Given the description of an element on the screen output the (x, y) to click on. 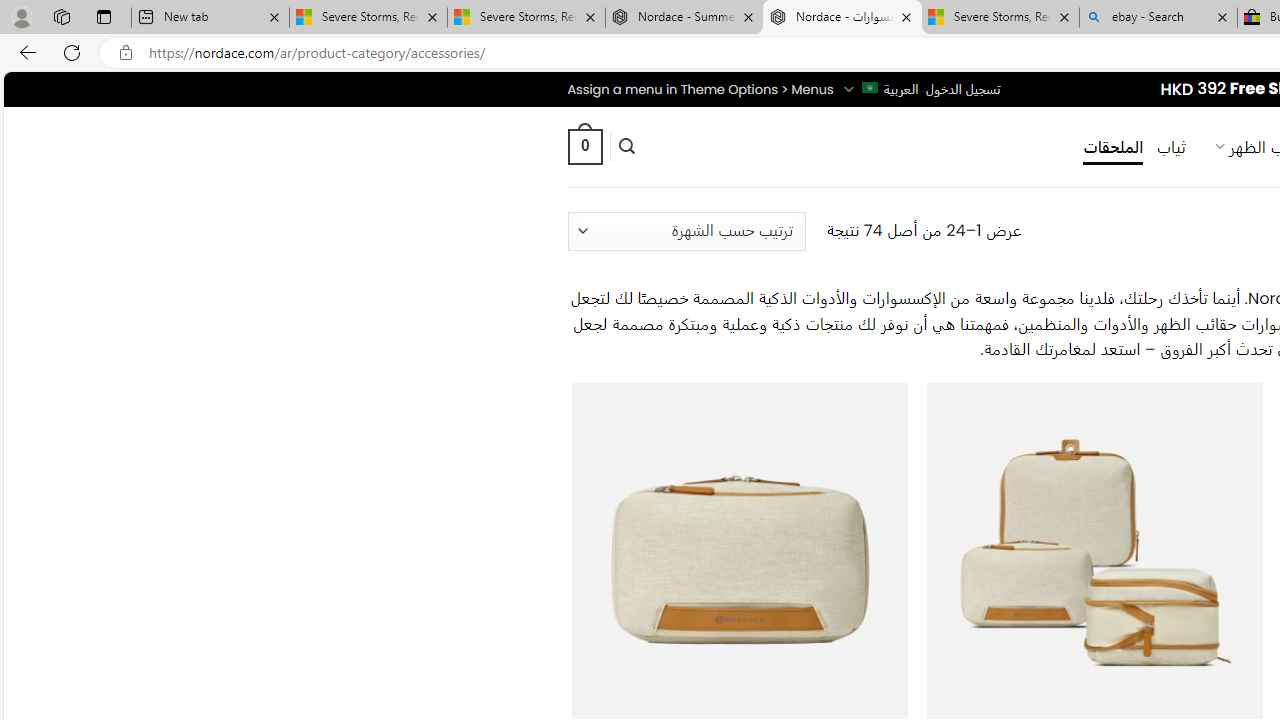
View site information (125, 53)
Assign a menu in Theme Options > Menus (700, 89)
Workspaces (61, 16)
ebay - Search (1158, 17)
